Given the description of an element on the screen output the (x, y) to click on. 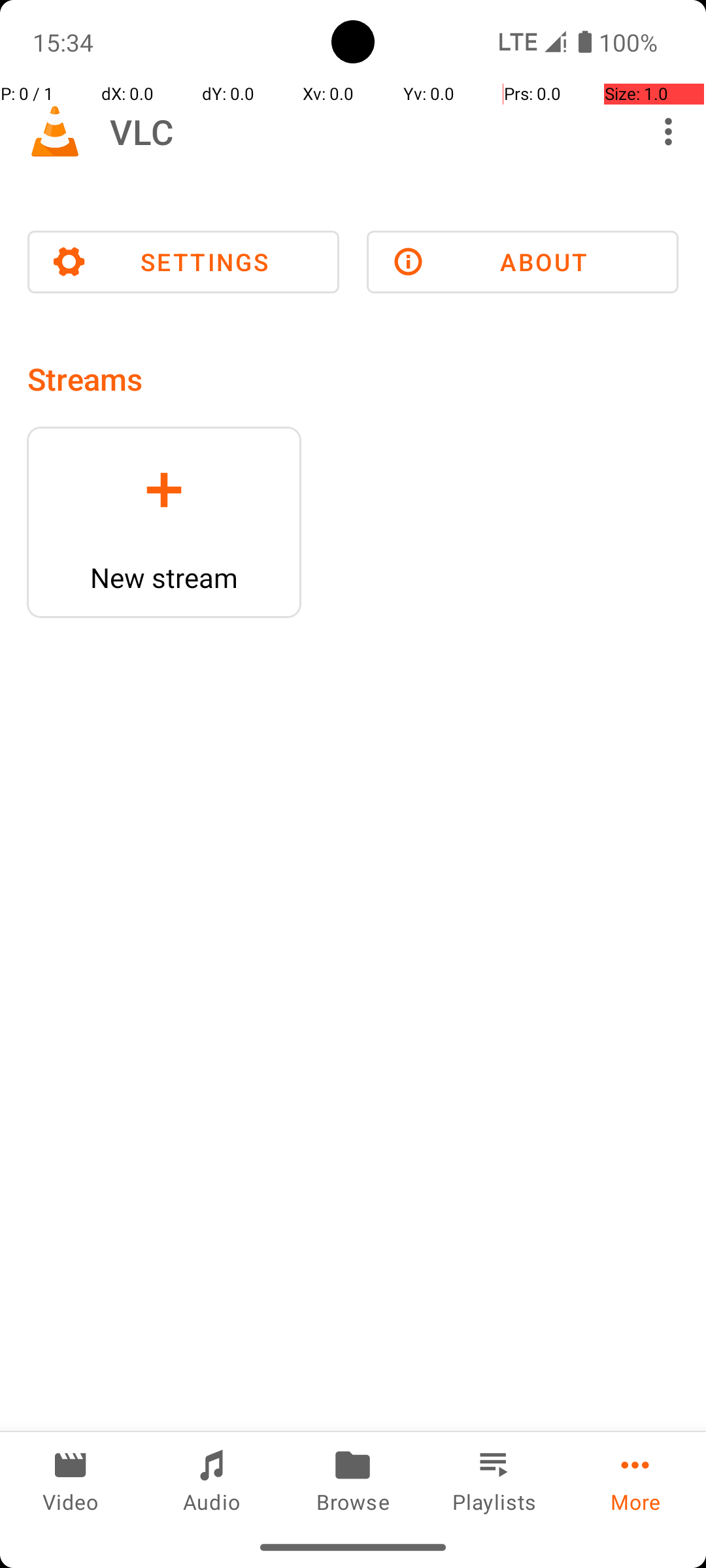
SETTINGS Element type: android.widget.Button (183, 261)
ABOUT Element type: android.widget.Button (522, 261)
Streams Element type: android.widget.TextView (84, 378)
New stream Element type: android.widget.TextView (163, 576)
